Given the description of an element on the screen output the (x, y) to click on. 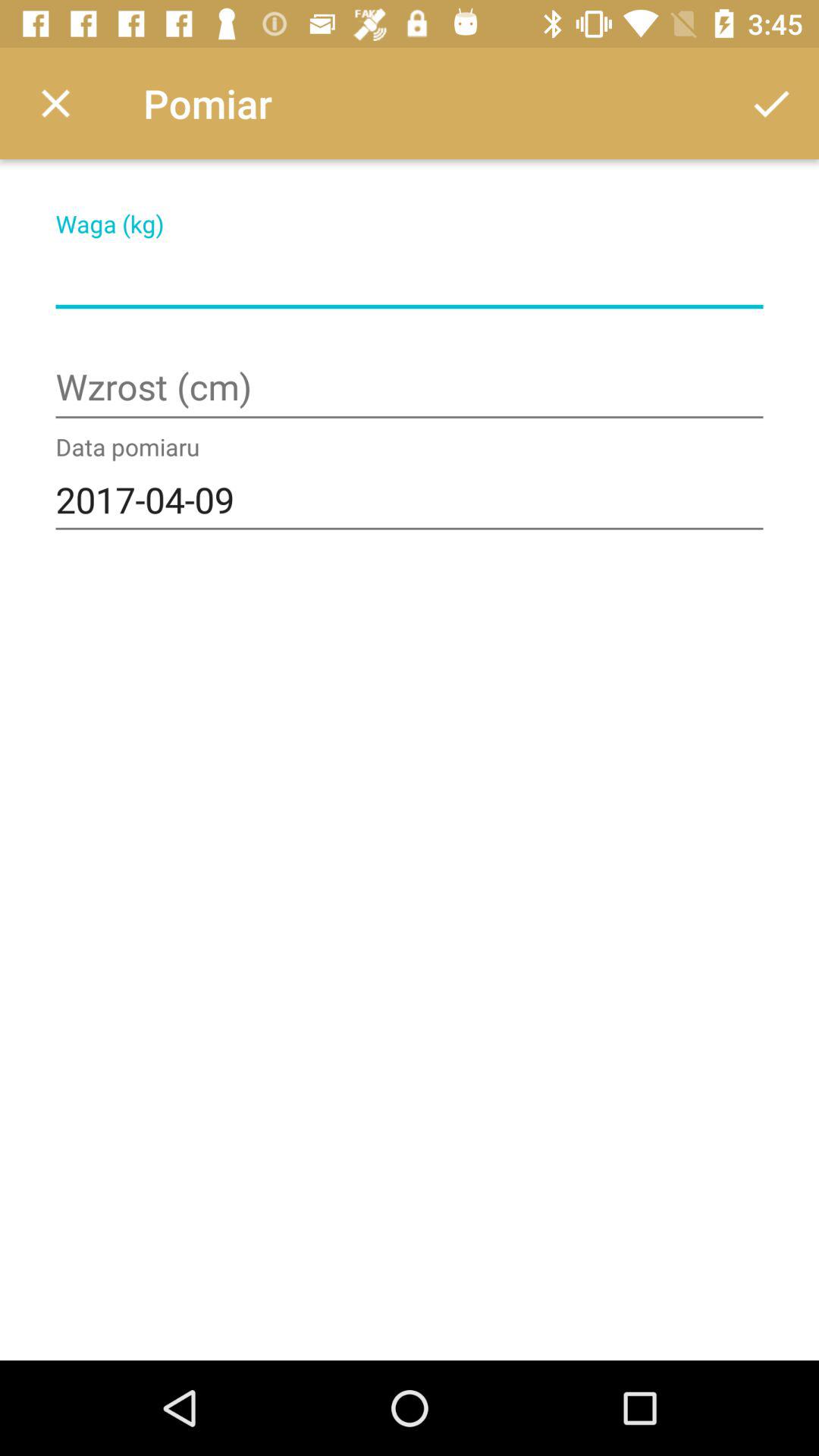
cm (409, 388)
